Given the description of an element on the screen output the (x, y) to click on. 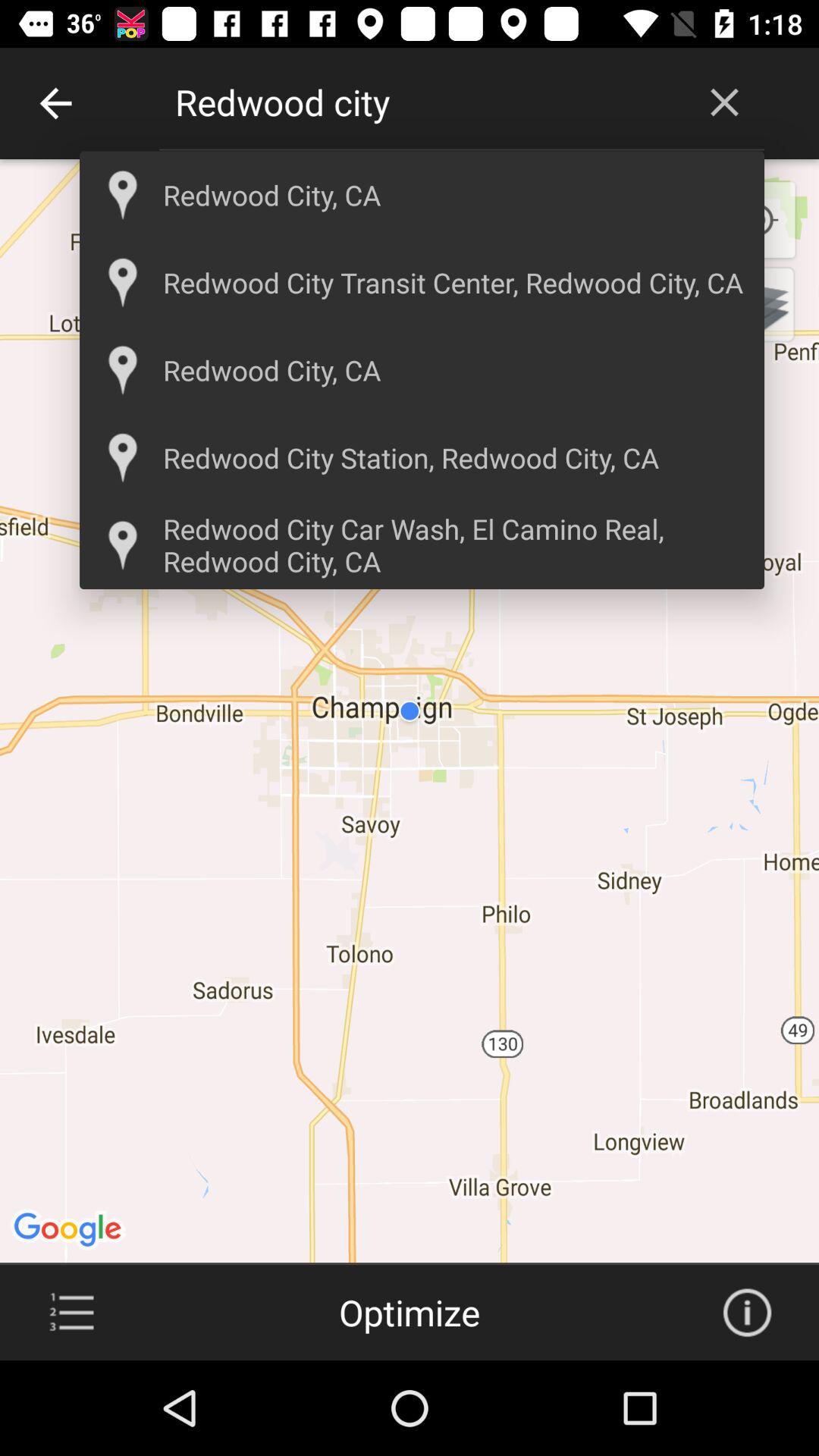
open menu option (71, 1312)
